Given the description of an element on the screen output the (x, y) to click on. 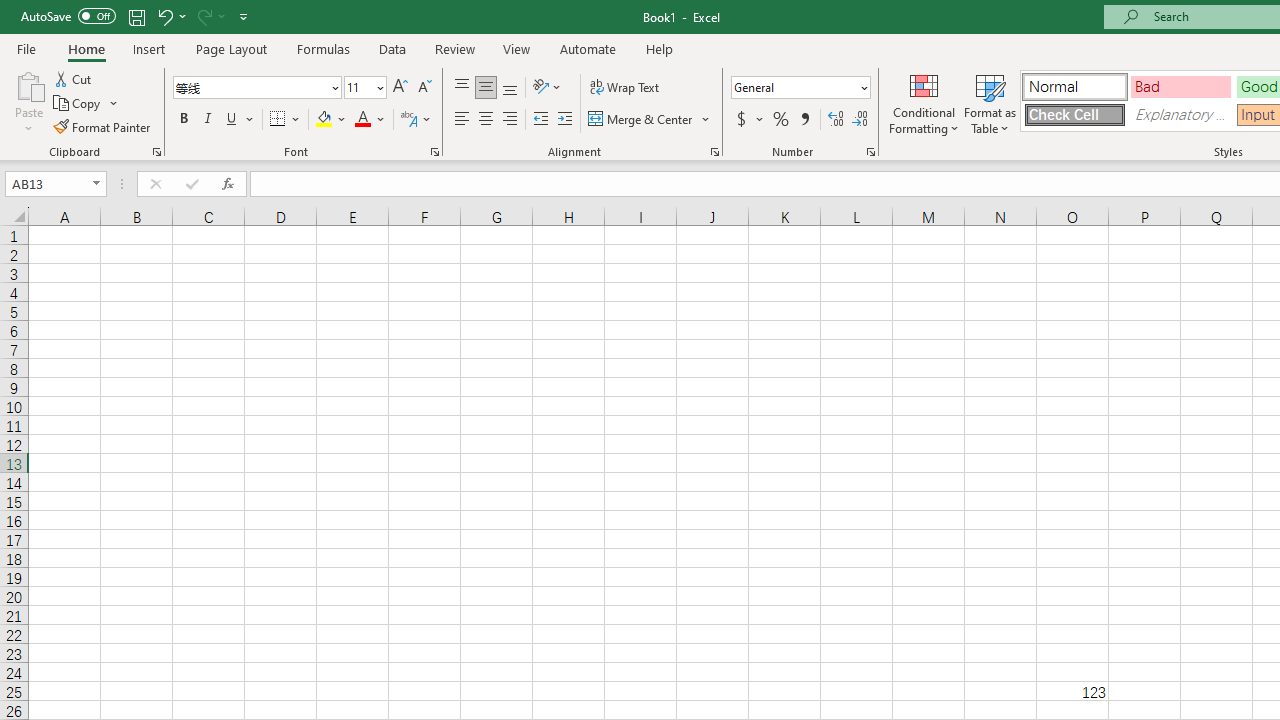
More Options (760, 119)
Number Format (794, 87)
Show Phonetic Field (416, 119)
Decrease Decimal (859, 119)
Check Cell (1074, 114)
Top Align (461, 87)
Show Phonetic Field (408, 119)
Normal (1074, 86)
Font Size (365, 87)
Accounting Number Format (749, 119)
Paste (28, 102)
Underline (239, 119)
Comma Style (804, 119)
Middle Align (485, 87)
